Given the description of an element on the screen output the (x, y) to click on. 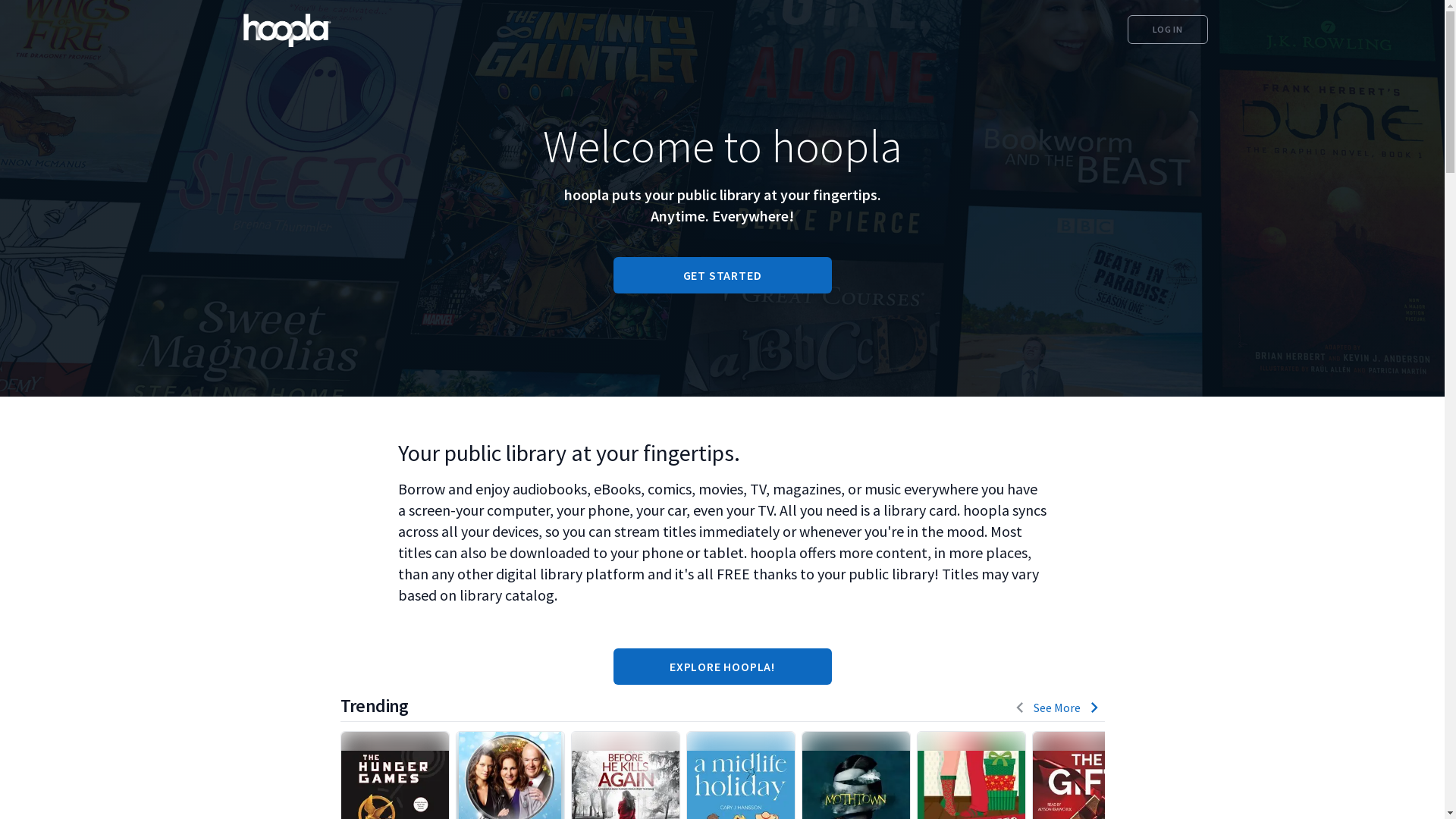
EXPLORE HOOPLA! Element type: text (721, 666)
GET STARTED Element type: text (721, 275)
LOG IN Element type: text (1167, 29)
See More Element type: text (1055, 707)
